Given the description of an element on the screen output the (x, y) to click on. 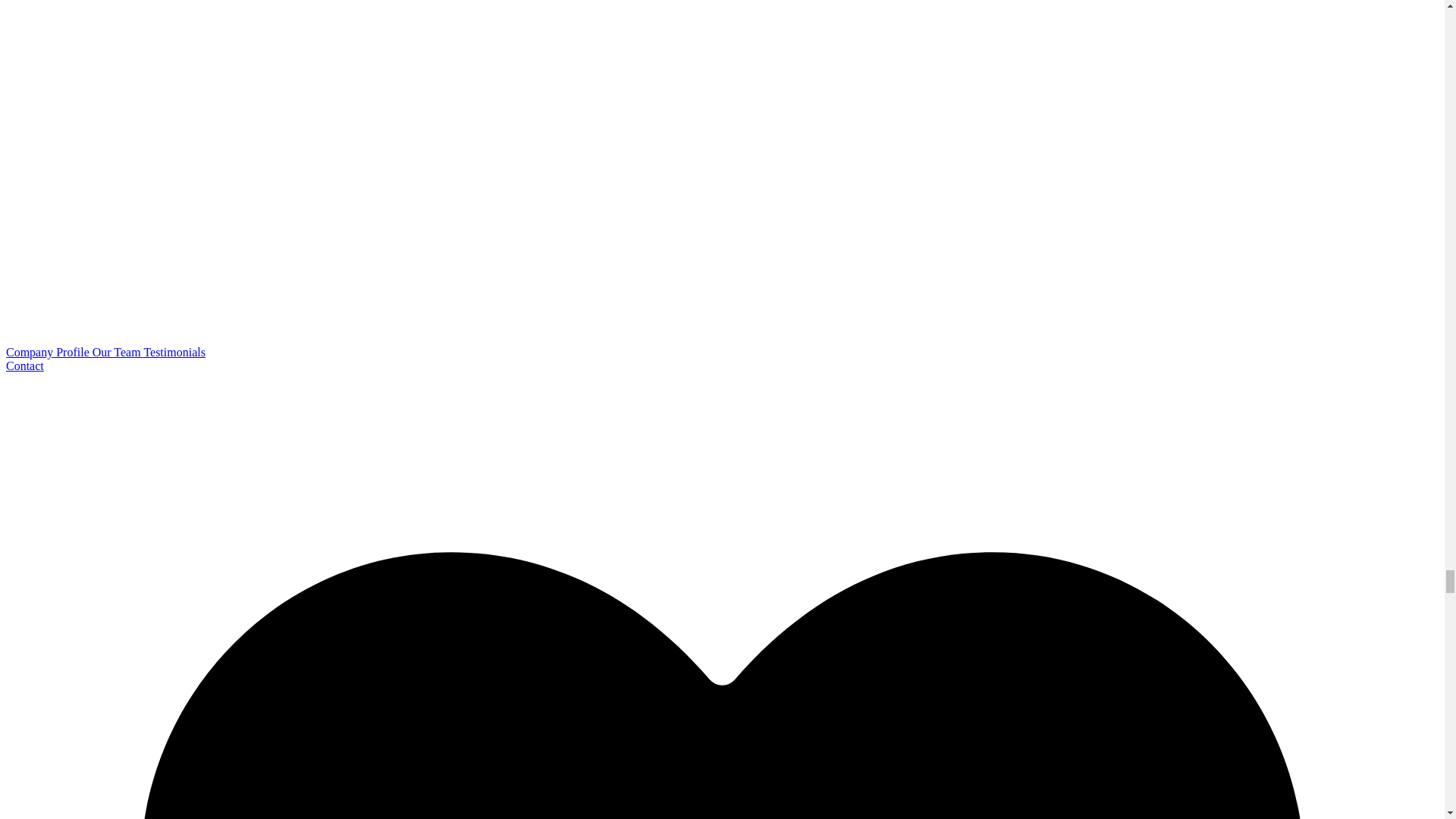
Testimonials (173, 351)
Our Team (118, 351)
Contact (24, 365)
Company Profile (49, 351)
